Given the description of an element on the screen output the (x, y) to click on. 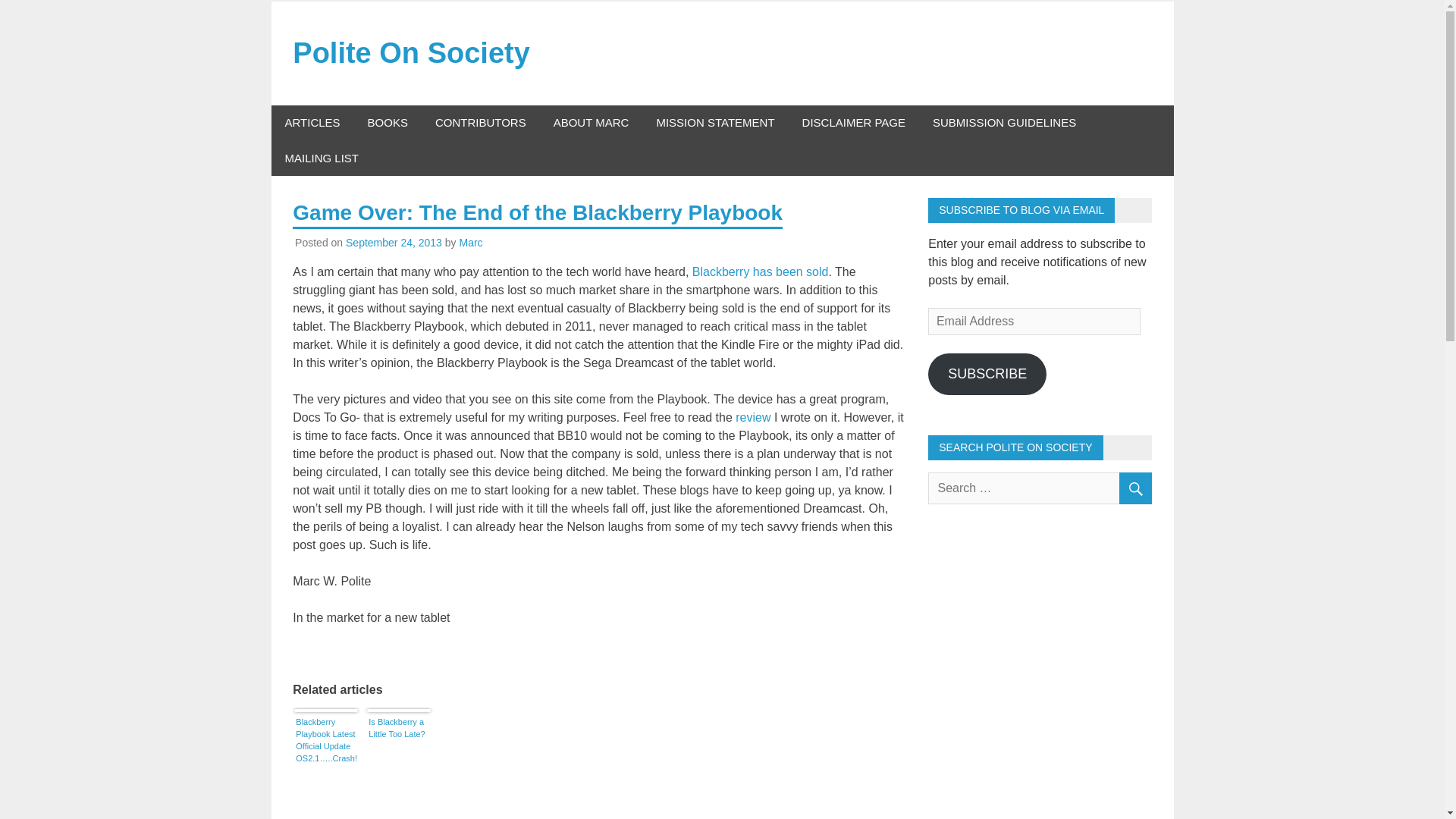
September 24, 2013 (394, 242)
SUBMISSION GUIDELINES (1003, 122)
DISCLAIMER PAGE (853, 122)
MISSION STATEMENT (714, 122)
Polite On Society (410, 52)
View all posts by Marc (469, 242)
ABOUT MARC (591, 122)
MAILING LIST (321, 158)
Blackberry has been sold (760, 271)
ARTICLES (311, 122)
